Given the description of an element on the screen output the (x, y) to click on. 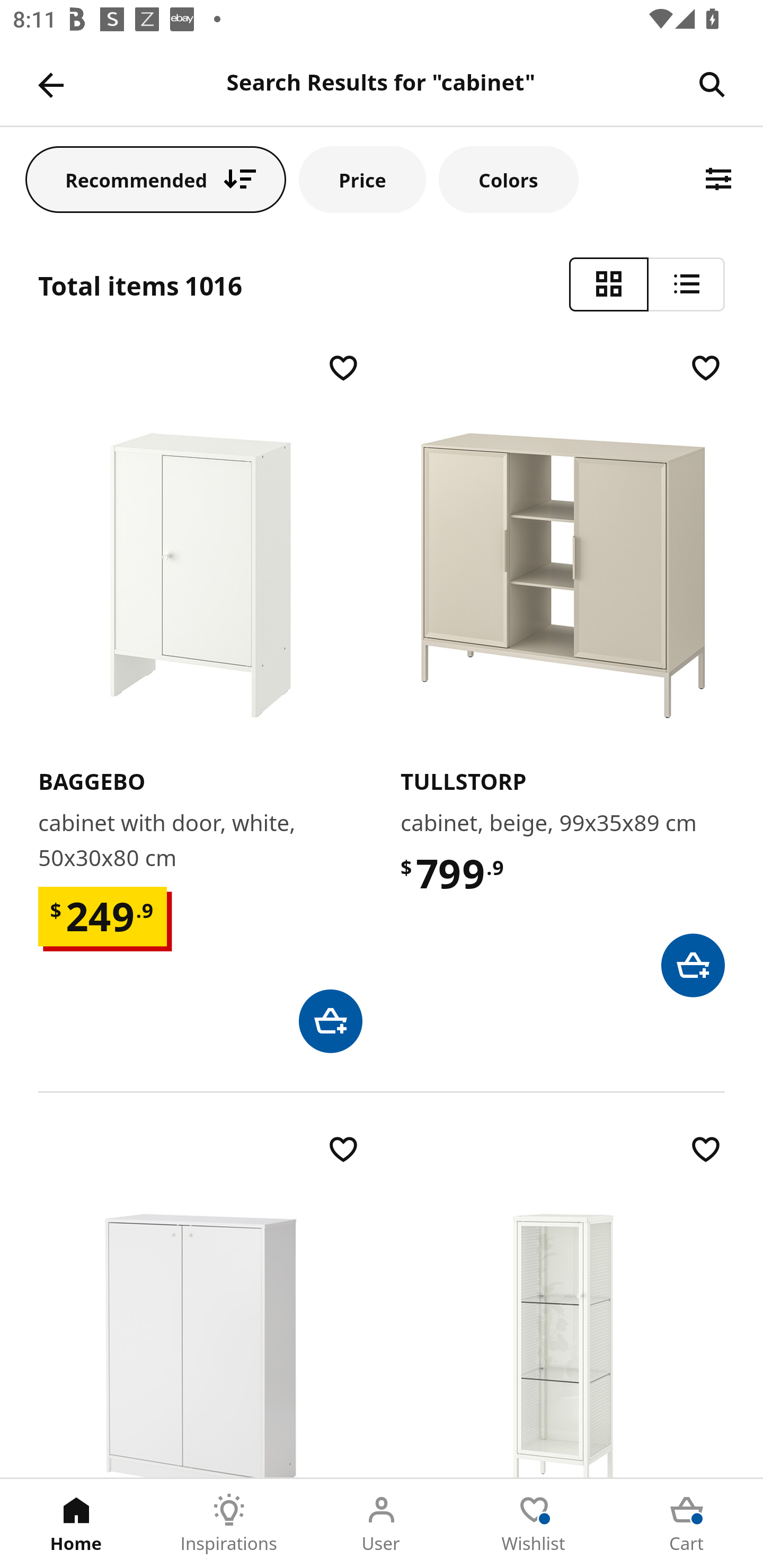
Recommended (155, 179)
Price (362, 179)
Colors (508, 179)
Home
Tab 1 of 5 (76, 1522)
Inspirations
Tab 2 of 5 (228, 1522)
User
Tab 3 of 5 (381, 1522)
Wishlist
Tab 4 of 5 (533, 1522)
Cart
Tab 5 of 5 (686, 1522)
